Given the description of an element on the screen output the (x, y) to click on. 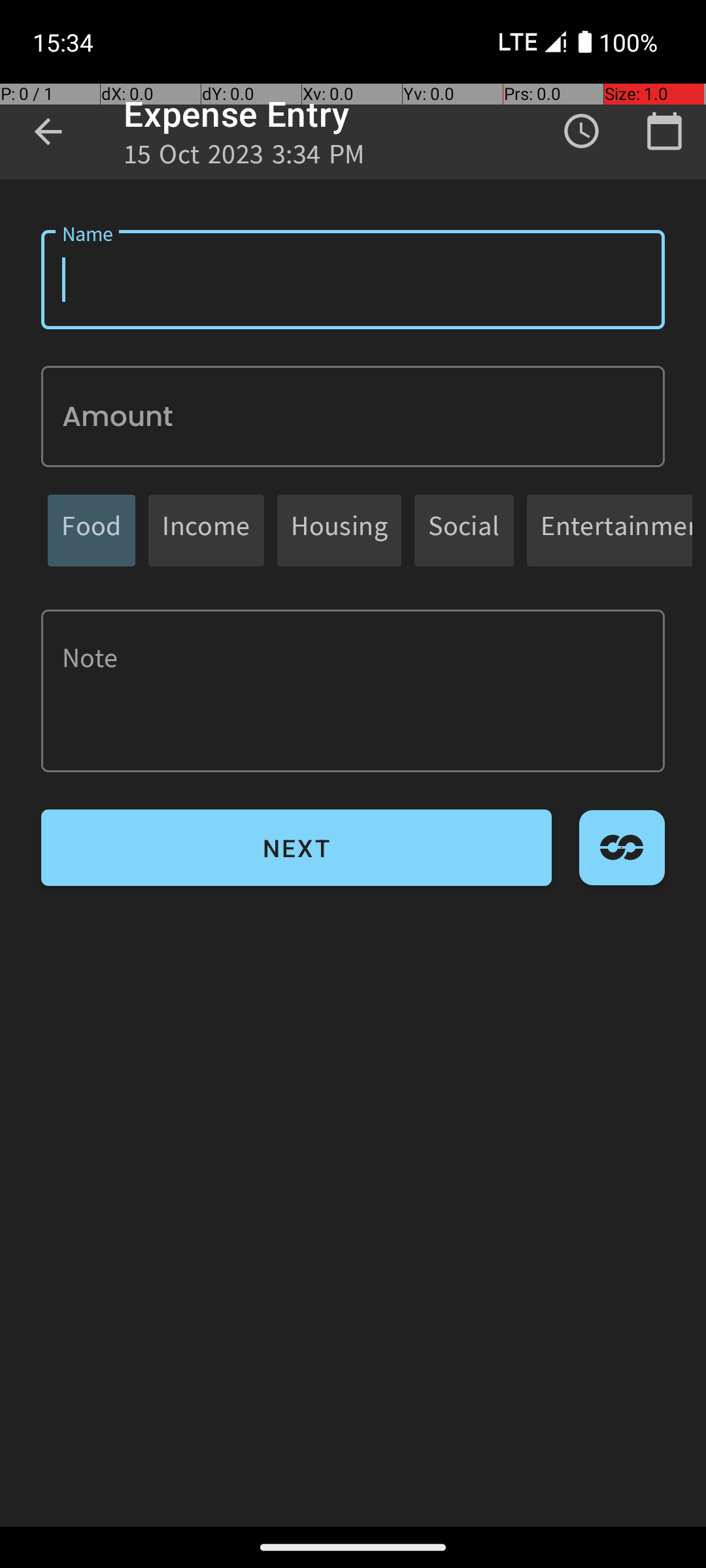
NEXT Element type: android.widget.Button (296, 847)
